Given the description of an element on the screen output the (x, y) to click on. 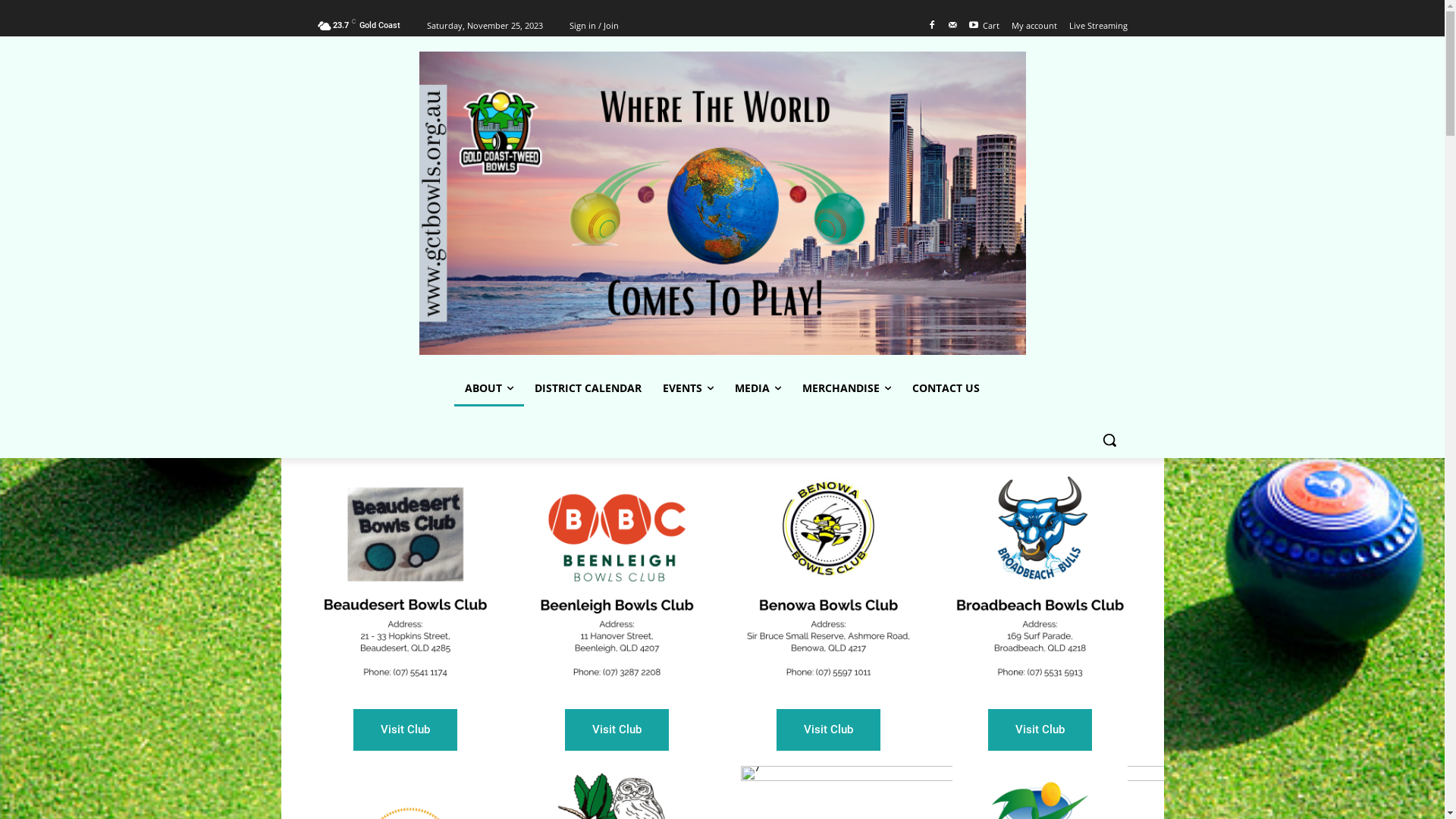
Visit Club Element type: text (616, 729)
www.gctbowls.org.au Element type: hover (721, 202)
2 Element type: hover (616, 581)
MERCHANDISE Element type: text (846, 388)
Youtube Element type: hover (973, 25)
MEDIA Element type: text (757, 388)
Live Streaming Element type: text (1098, 25)
Sign in / Join Element type: text (593, 25)
Cart Element type: text (990, 25)
Clubs Element type: hover (404, 581)
Visit Club Element type: text (405, 729)
EVENTS Element type: text (688, 388)
Facebook Element type: hover (931, 25)
My account Element type: text (1034, 25)
3 Element type: hover (827, 581)
4 Element type: hover (1039, 581)
DISTRICT CALENDAR Element type: text (588, 388)
ABOUT Element type: text (489, 388)
CONTACT US Element type: text (945, 388)
Visit Club Element type: text (828, 729)
Mail Element type: hover (952, 25)
Visit Club Element type: text (1039, 729)
